Given the description of an element on the screen output the (x, y) to click on. 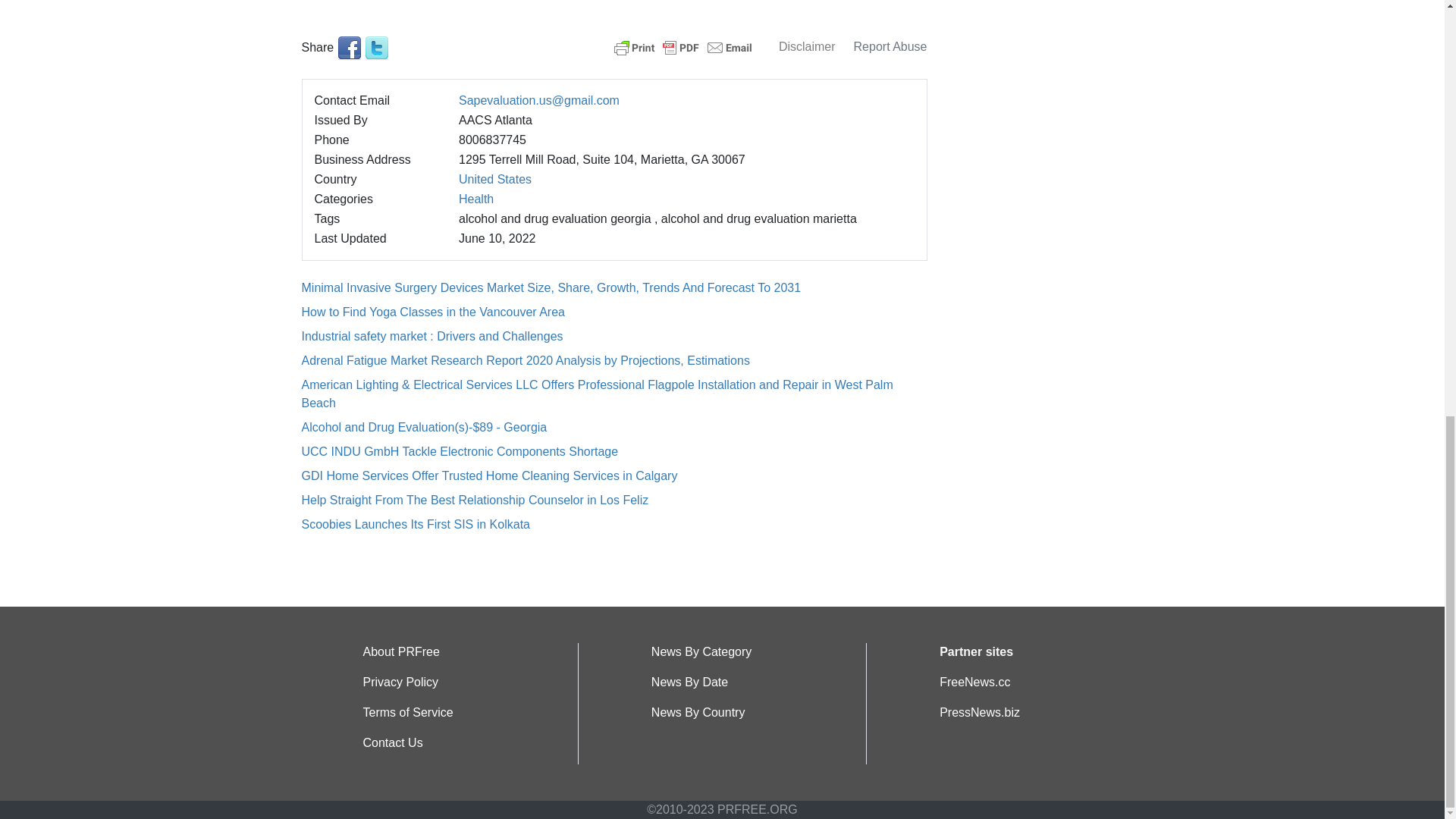
United States (494, 178)
Health (475, 198)
Privacy Policy (400, 681)
How to Find Yoga Classes in the Vancouver Area (432, 311)
Contact Us (392, 742)
Report Abuse (890, 46)
Scoobies Launches Its First SIS in Kolkata (415, 523)
Industrial safety market : Drivers and Challenges (432, 336)
Terms of Service (407, 712)
About PRFree (400, 651)
Printer Friendly and PDF (683, 46)
